Given the description of an element on the screen output the (x, y) to click on. 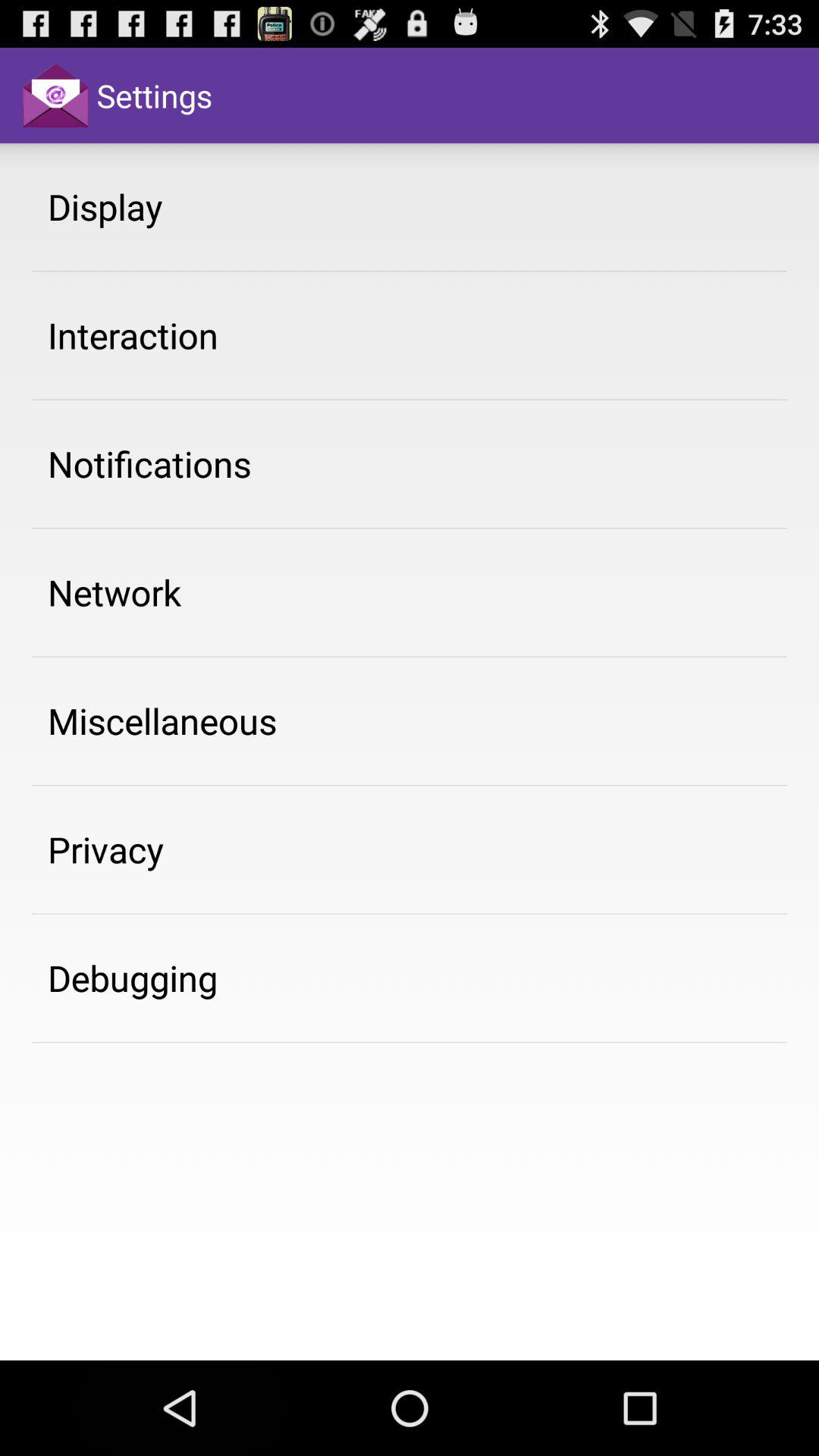
click app below privacy app (132, 977)
